Given the description of an element on the screen output the (x, y) to click on. 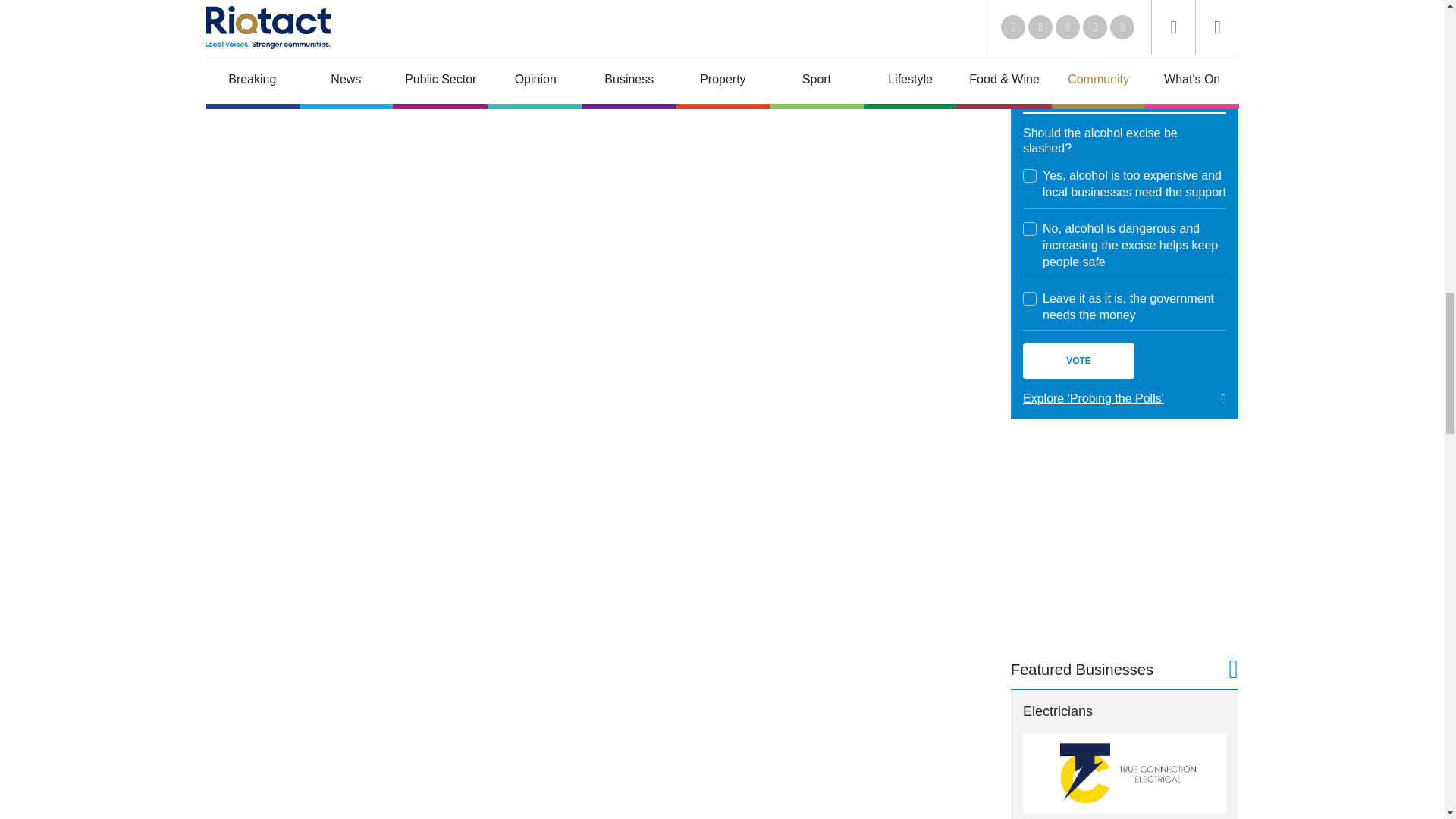
2046 (1029, 175)
2048 (1029, 298)
2047 (1029, 228)
Zango Sales (1124, 22)
   Vote    (1078, 361)
3rd party ad content (1124, 537)
